Given the description of an element on the screen output the (x, y) to click on. 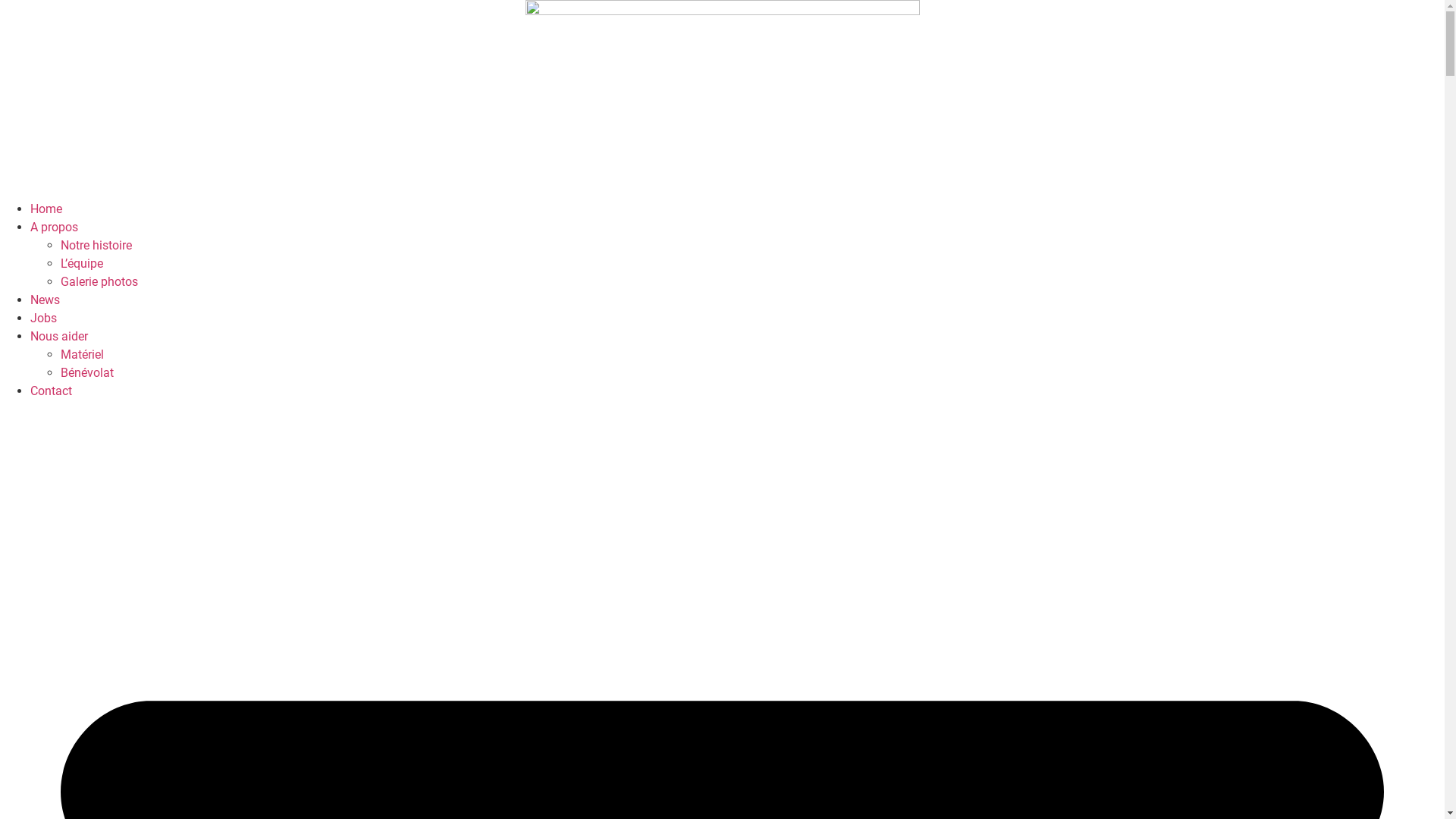
Galerie photos Element type: text (99, 281)
Home Element type: text (46, 208)
Notre histoire Element type: text (95, 245)
Nous aider Element type: text (58, 336)
Contact Element type: text (51, 390)
A propos Element type: text (54, 226)
News Element type: text (44, 299)
Jobs Element type: text (43, 317)
